Given the description of an element on the screen output the (x, y) to click on. 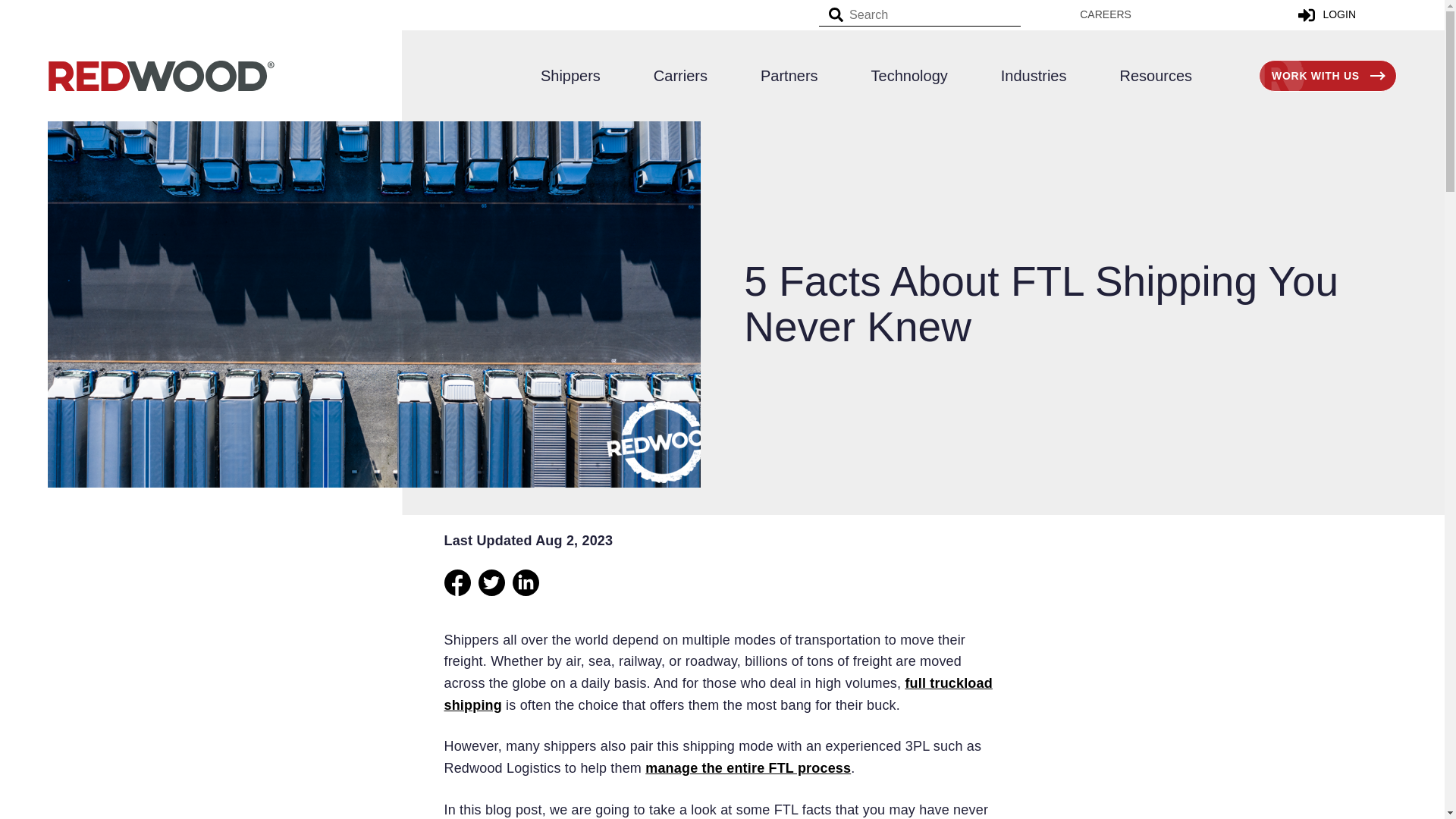
Technology (909, 75)
Carriers (680, 75)
Resources (1142, 75)
Partners (788, 75)
Shippers (583, 75)
